Given the description of an element on the screen output the (x, y) to click on. 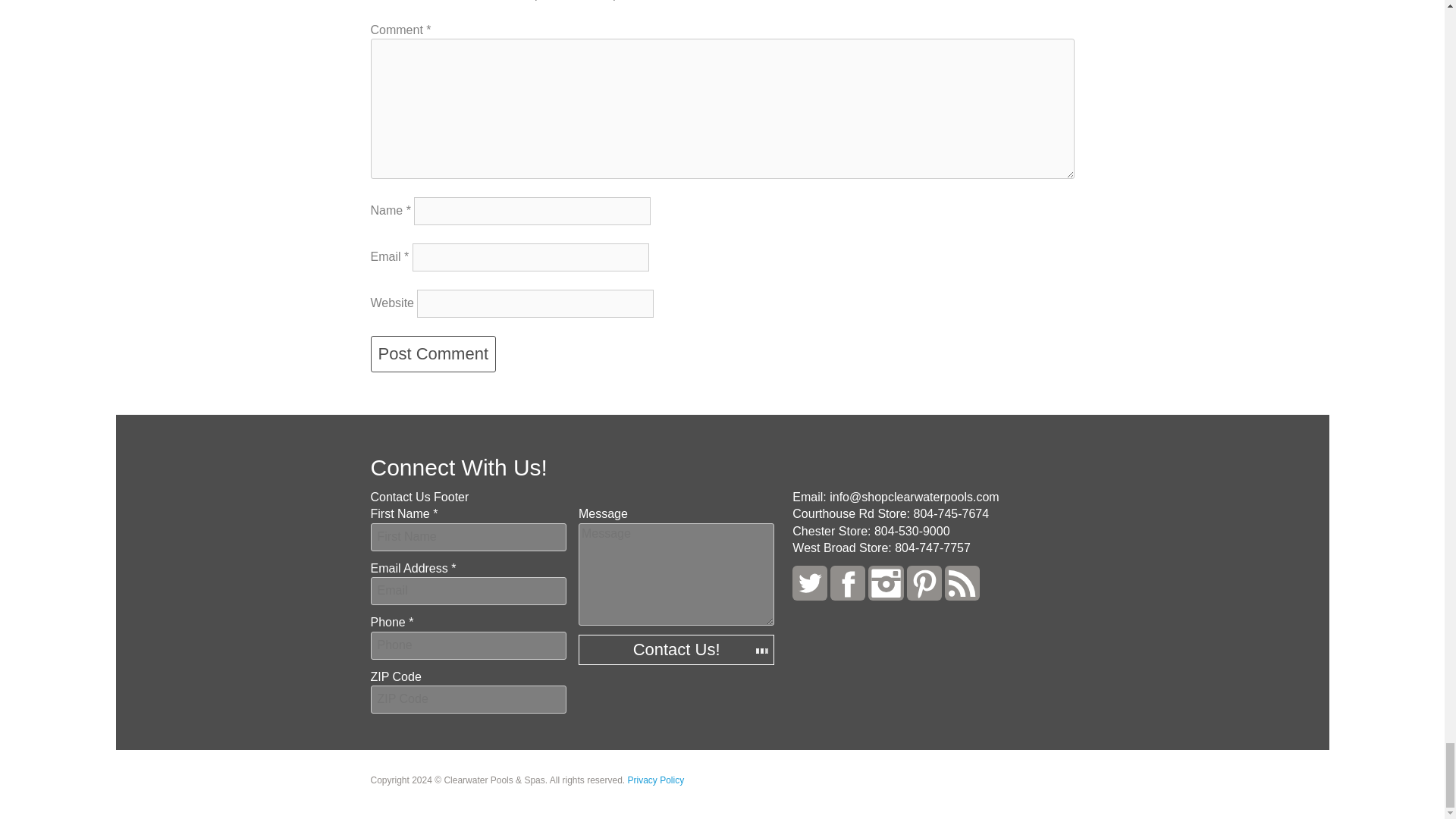
Contact Us! (676, 649)
Contact Us! (676, 649)
Post Comment (432, 353)
Post Comment (432, 353)
